Given the description of an element on the screen output the (x, y) to click on. 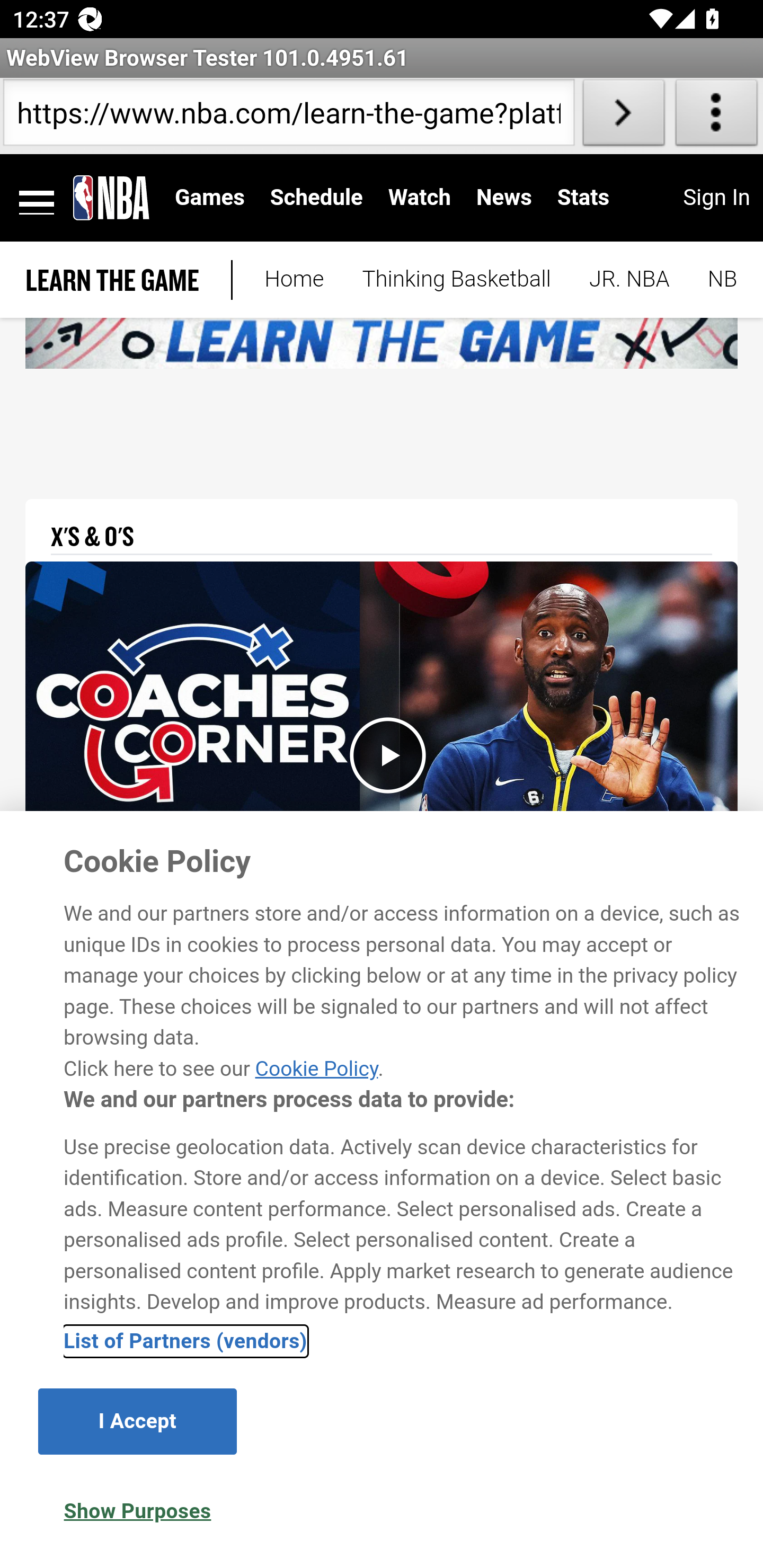
Load URL (623, 115)
About WebView (716, 115)
Games (209, 197)
Schedule (315, 197)
Watch (419, 197)
News (503, 197)
Stats (583, 197)
Sign In (716, 197)
NBA Logo NBA NBA Logo NBA (111, 197)
Global Navigation Toggle (36, 197)
Home (293, 279)
Thinking Basketball (455, 279)
JR. NBA (629, 279)
NBA Official (712, 279)
Cookie Policy (316, 1068)
List of Partners (vendors) (185, 1340)
I Accept (137, 1421)
Show Purposes (137, 1511)
